Given the description of an element on the screen output the (x, y) to click on. 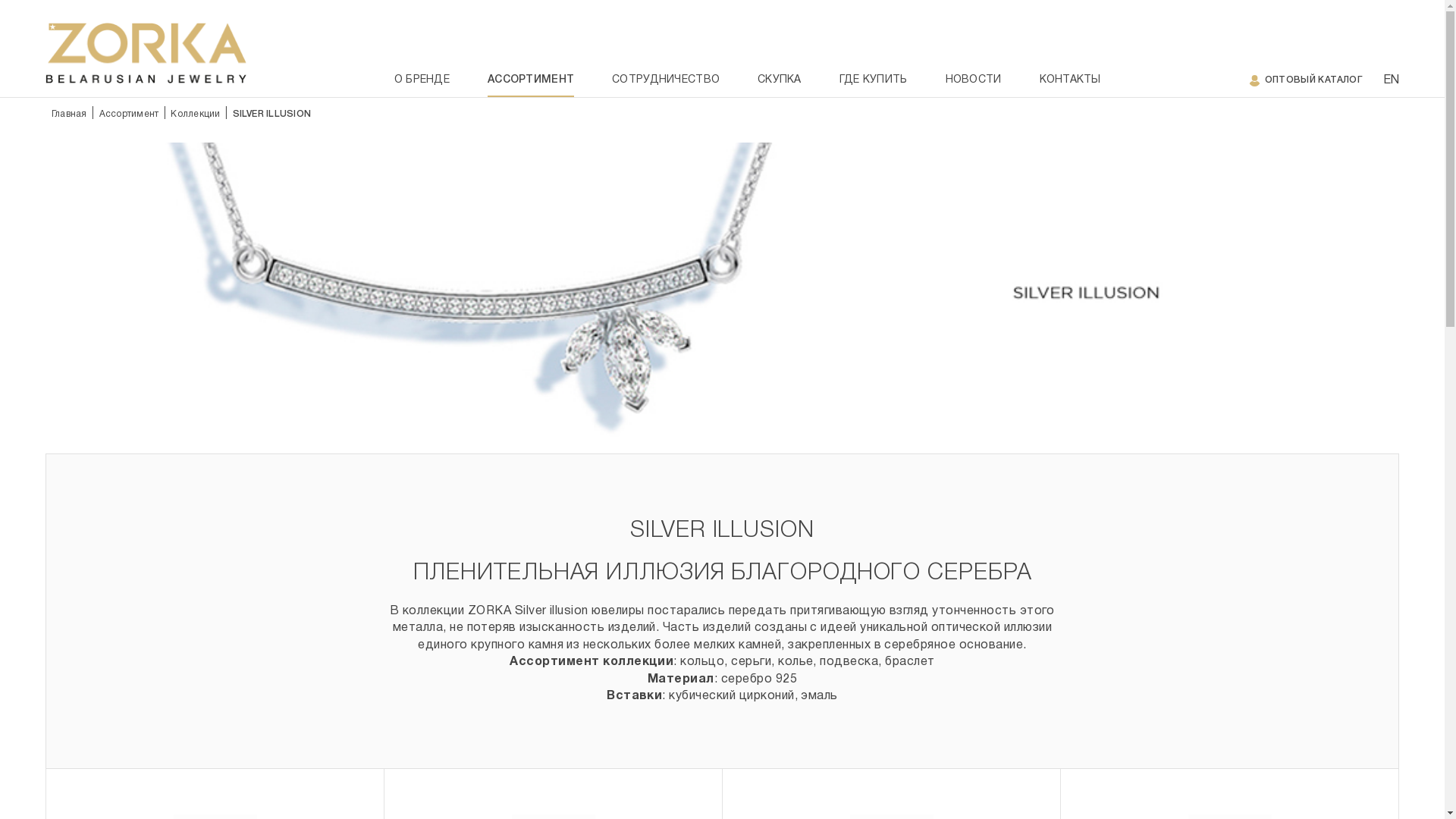
EN Element type: text (1391, 80)
